Given the description of an element on the screen output the (x, y) to click on. 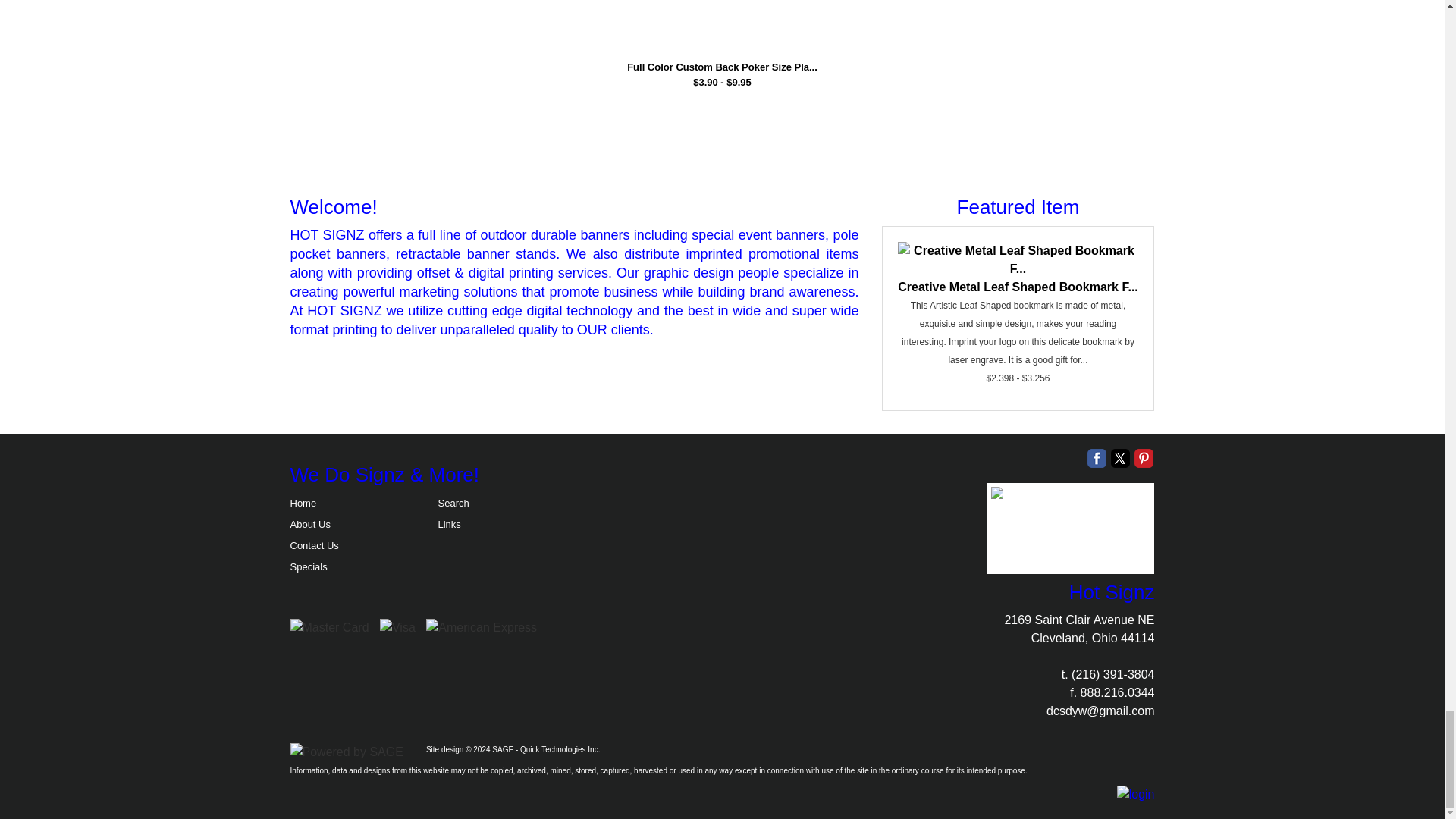
Visit us on Pinterest (1143, 457)
Visit us on Facebook (1096, 457)
Click for a larger map (1070, 528)
Visit us on Twitter (1119, 457)
